Given the description of an element on the screen output the (x, y) to click on. 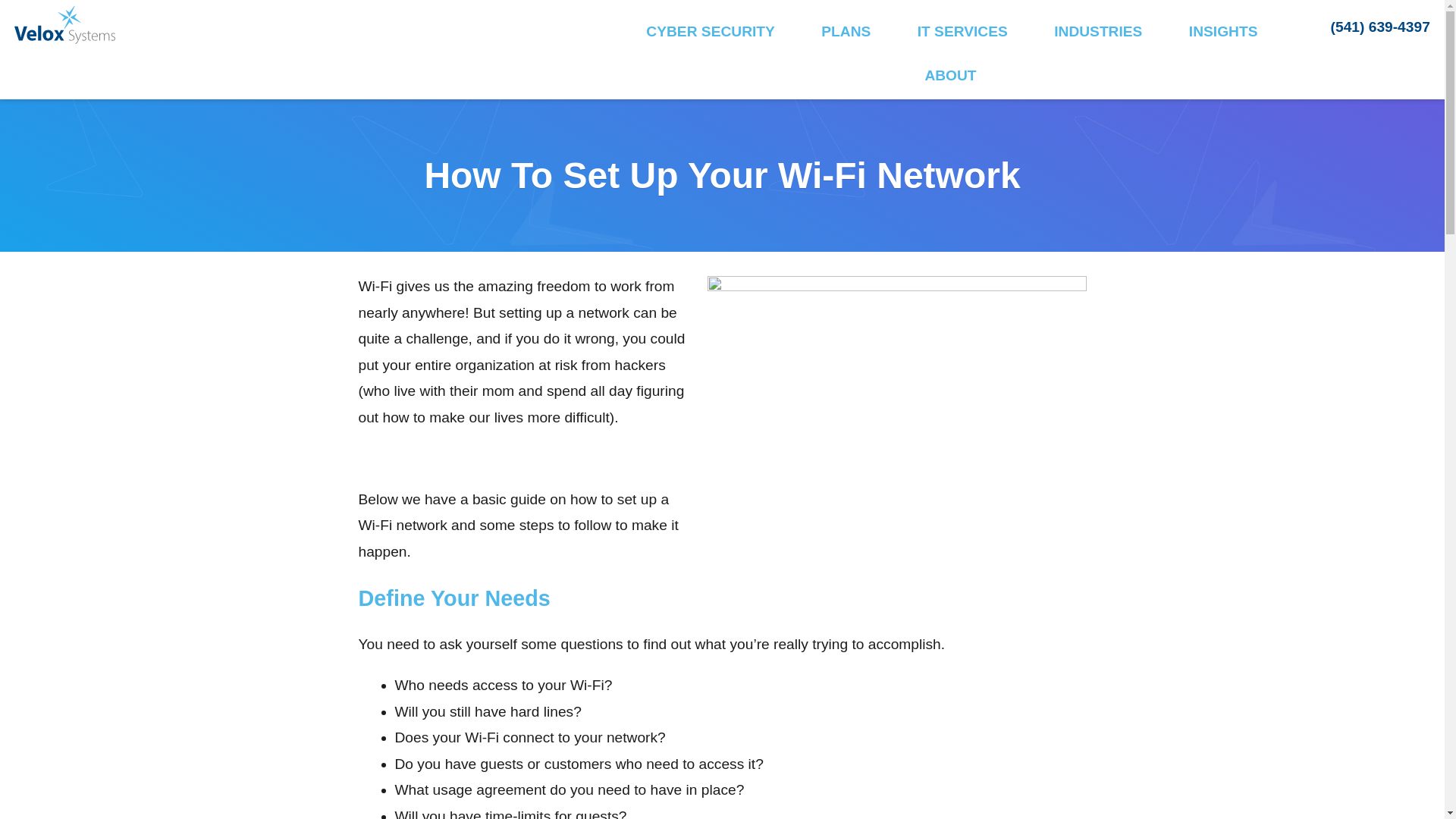
IT SERVICES (962, 33)
INDUSTRIES (1098, 33)
CYBER SECURITY (710, 33)
PLANS (845, 33)
Velox Systems (143, 69)
